Given the description of an element on the screen output the (x, y) to click on. 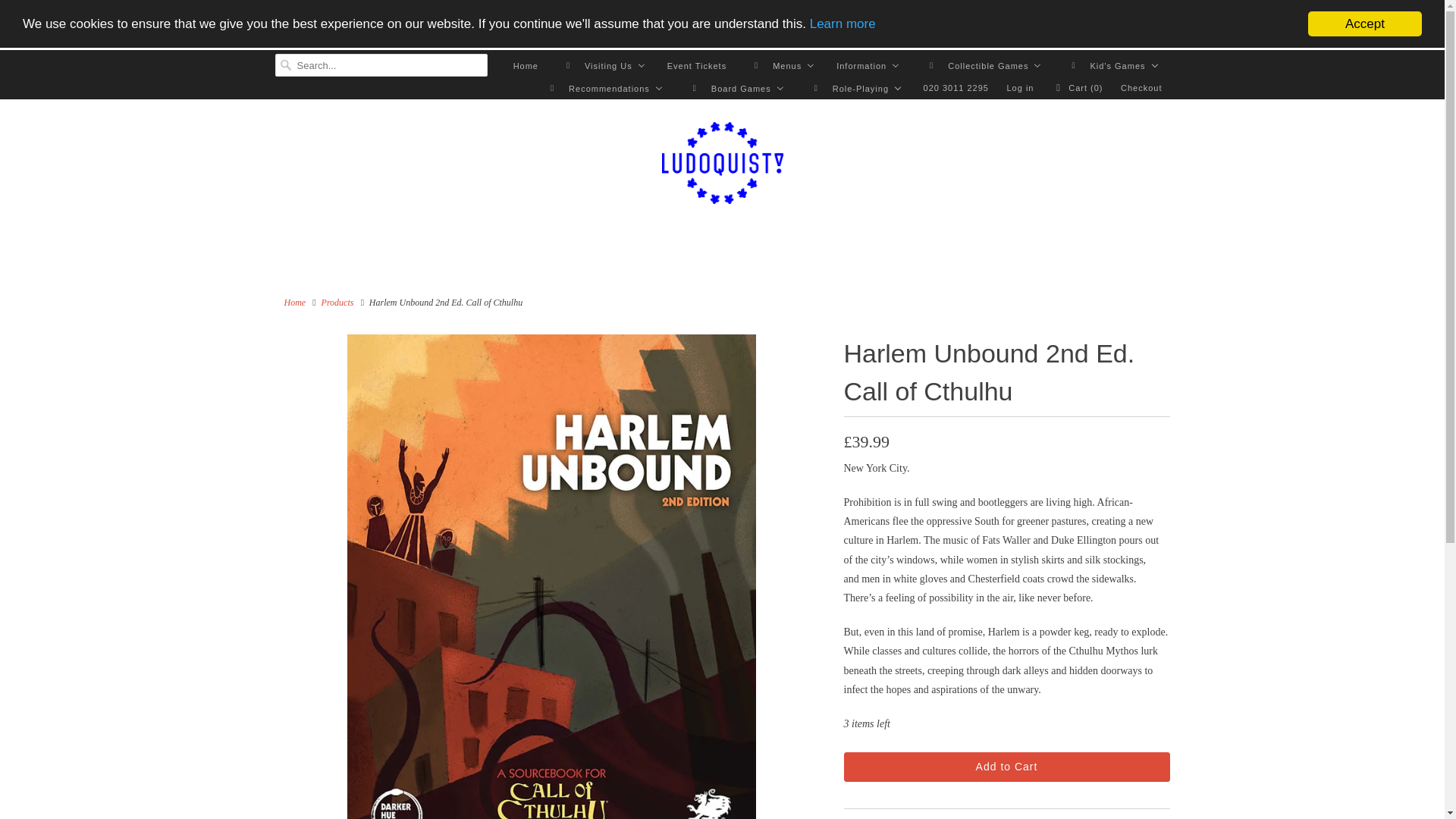
Home (525, 41)
Information (867, 65)
Collectible Games (981, 65)
Products (337, 302)
Menus (780, 62)
The Ludoquist (294, 302)
Visiting Us (601, 47)
Event Tickets (695, 60)
The Ludoquist (722, 165)
